Given the description of an element on the screen output the (x, y) to click on. 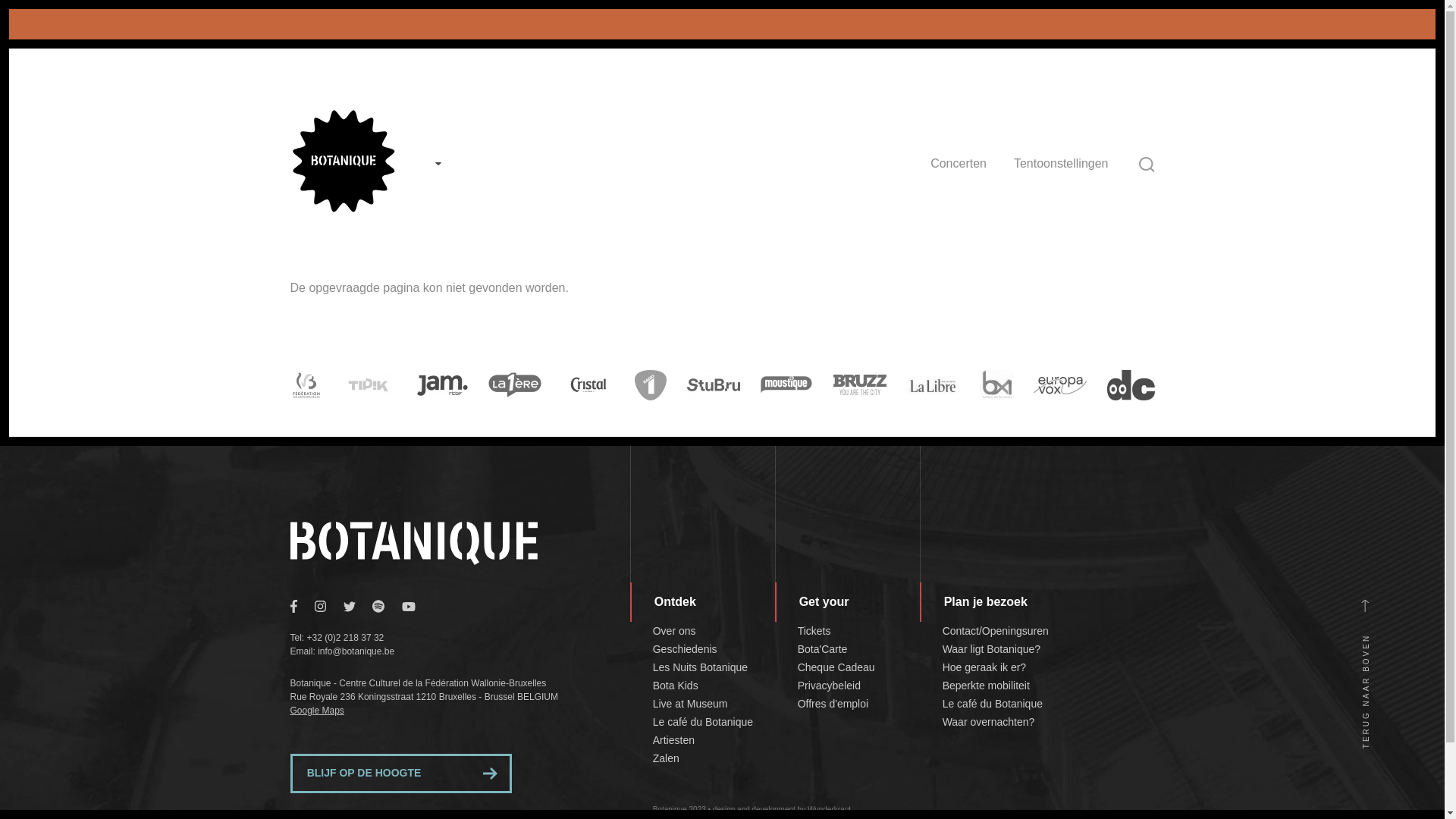
Wunderkraut Element type: text (828, 809)
Artiesten Element type: text (673, 740)
Bota Kids Element type: text (675, 685)
Concerten Element type: text (958, 162)
Google Maps Element type: text (316, 710)
Home Element type: hover (342, 208)
Privacybeleid Element type: text (828, 685)
facebook Element type: text (301, 604)
Over ons Element type: text (674, 630)
Cheque Cadeau Element type: text (836, 667)
twitter Element type: text (357, 604)
Hoe geraak ik er? Element type: text (984, 667)
Beperkte mobiliteit Element type: text (985, 685)
Live at Museum Element type: text (690, 703)
instagram Element type: text (327, 604)
Geschiedenis Element type: text (684, 649)
Offres d'emploi Element type: text (832, 703)
Waar overnachten? Element type: text (988, 721)
Les Nuits Botanique Element type: text (699, 667)
Zoeken Element type: text (1146, 164)
spotify Element type: text (386, 604)
Tickets Element type: text (814, 630)
BLIJF OP DE HOOGTE Element type: text (400, 773)
Radio1 Element type: hover (650, 385)
Zalen Element type: text (665, 758)
youtube Element type: text (415, 604)
Waar ligt Botanique? Element type: text (991, 649)
Contact/Openingsuren Element type: text (995, 630)
Tentoonstellingen Element type: text (1060, 162)
FWB Element type: hover (305, 385)
Bota'Carte Element type: text (822, 649)
